Given the description of an element on the screen output the (x, y) to click on. 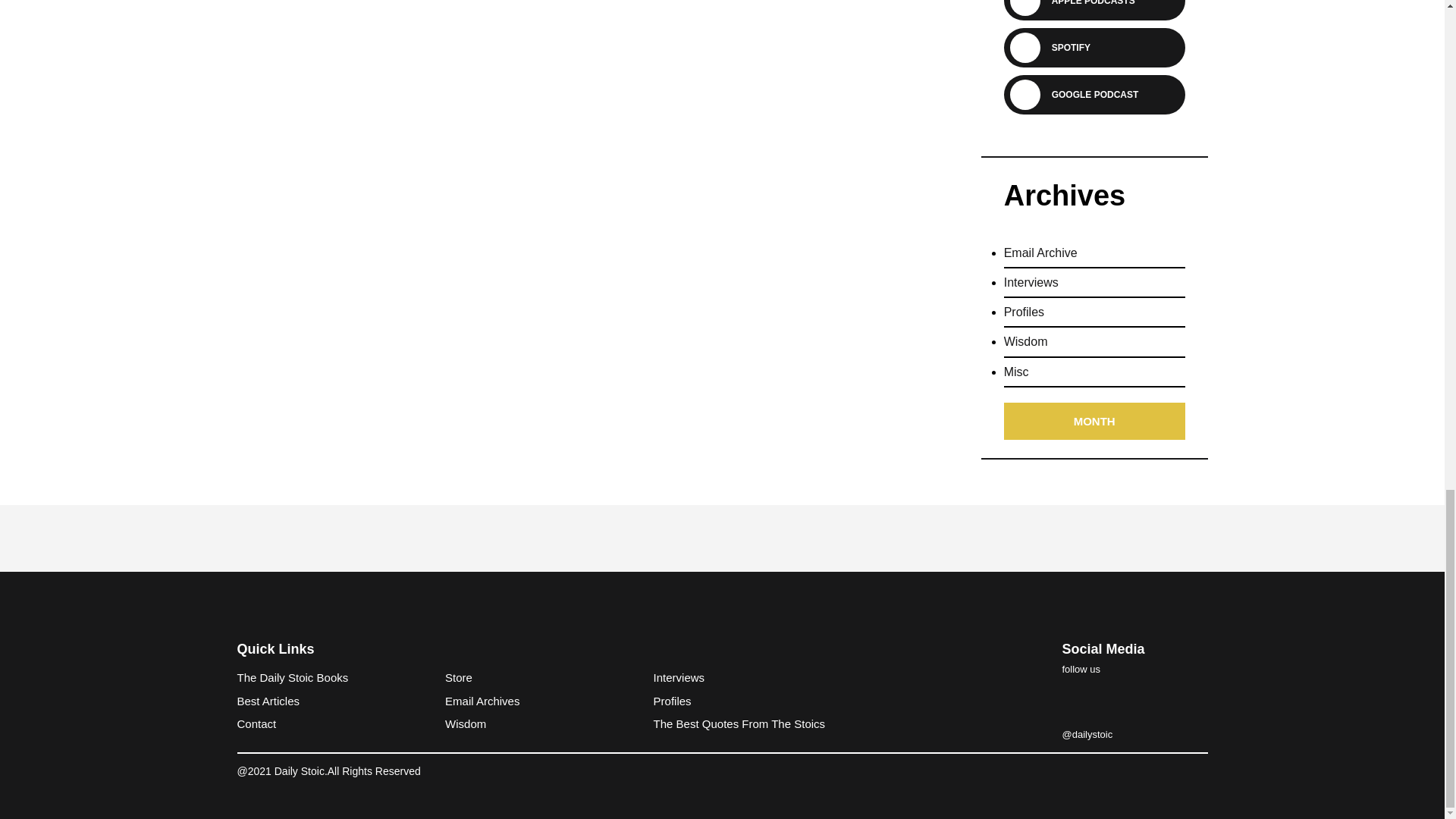
Profiles (1023, 319)
APPLE PODCASTS (1088, 4)
GOOGLE PODCAST (1089, 94)
Interviews (1031, 289)
Wisdom (1026, 348)
Misc (1016, 379)
Email Archive (1040, 260)
SPOTIFY (1065, 47)
